Given the description of an element on the screen output the (x, y) to click on. 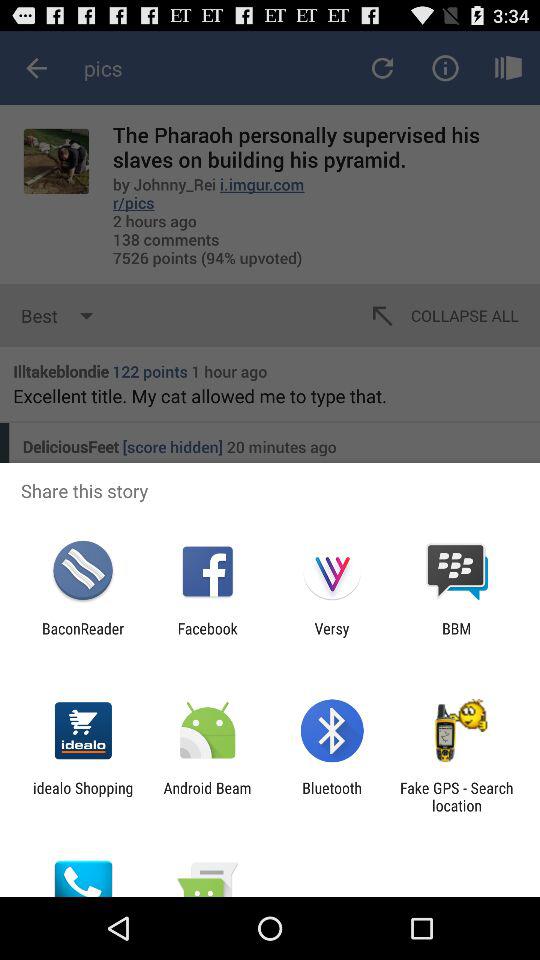
select the icon to the left of the bluetooth (207, 796)
